Given the description of an element on the screen output the (x, y) to click on. 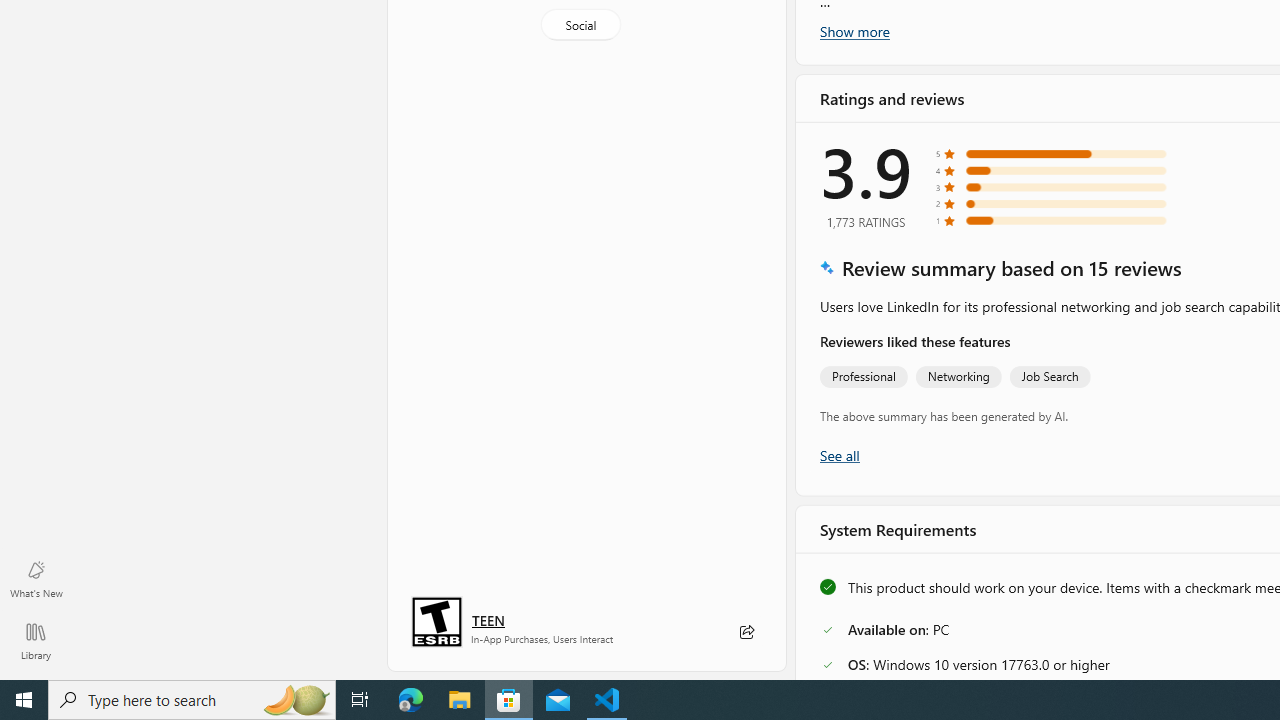
Show more (854, 31)
Social (579, 23)
Age rating: TEEN. Click for more information. (488, 619)
Show all ratings and reviews (838, 454)
Share (746, 632)
